Given the description of an element on the screen output the (x, y) to click on. 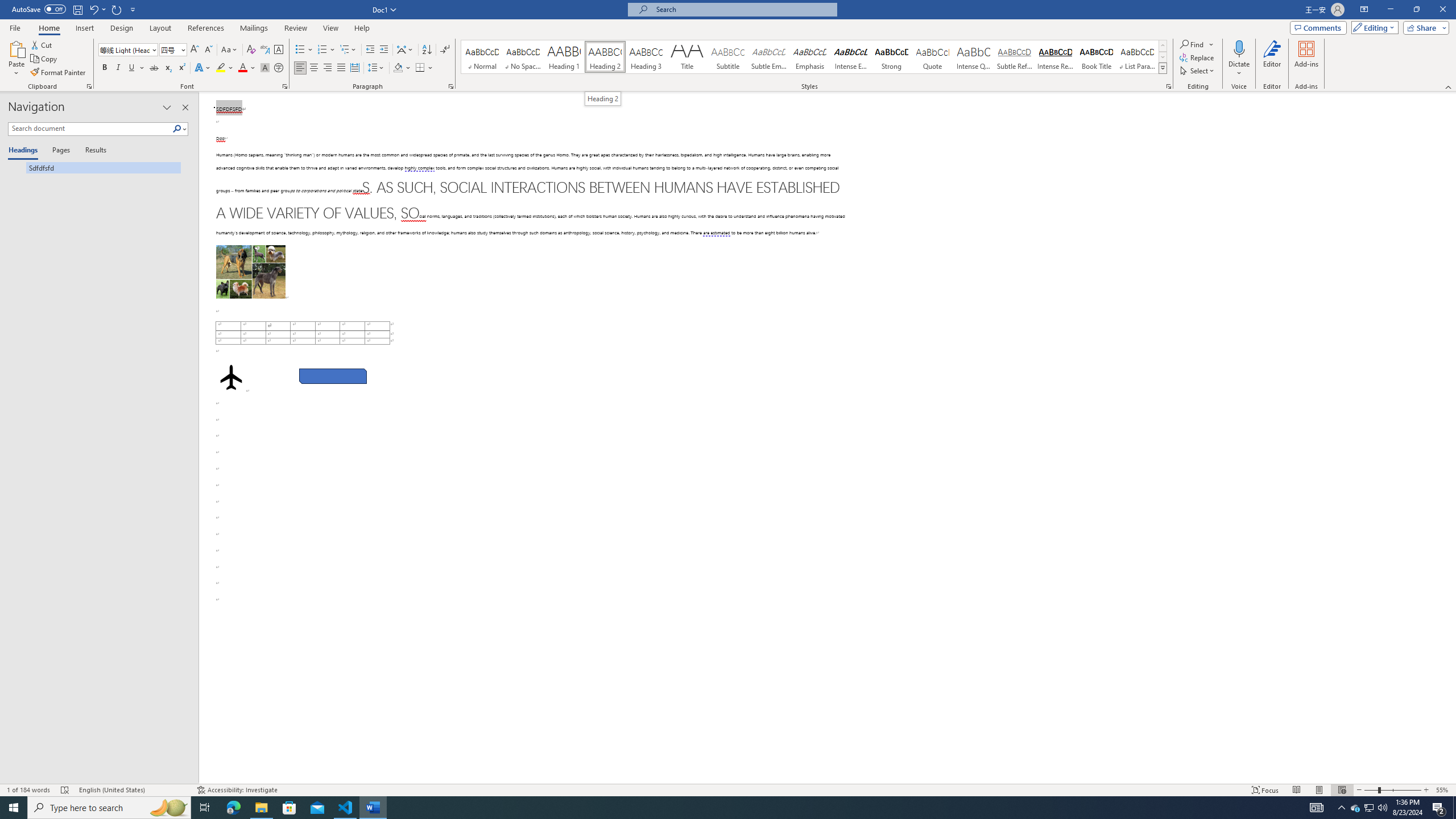
Class: MsoCommandBar (728, 789)
Mode (1372, 27)
Italic (118, 67)
Character Border (278, 49)
Book Title (1095, 56)
Zoom (1392, 790)
Cut (42, 44)
Heading 2 (605, 56)
